Given the description of an element on the screen output the (x, y) to click on. 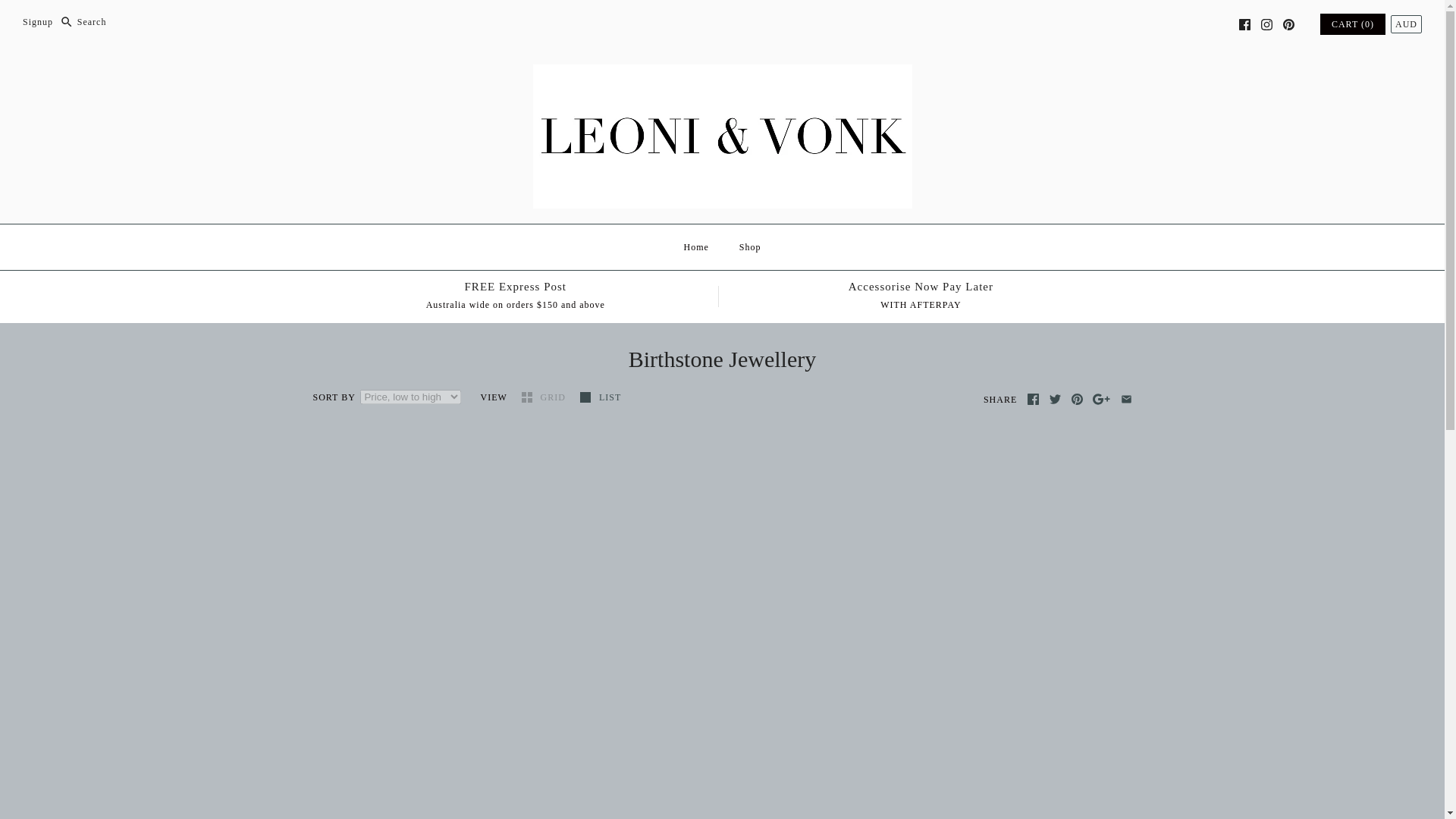
Instagram (1266, 24)
Instagram (1266, 24)
Twitter (1055, 398)
Twitter (920, 295)
Instagram (1055, 398)
Facebook (1266, 24)
Signup (1033, 398)
Share on Twitter (37, 21)
GooglePlus (1055, 398)
Home (1101, 398)
Share on Facebook (695, 247)
LIST (1033, 398)
Facebook (600, 397)
Pin the main image (1244, 24)
